Given the description of an element on the screen output the (x, y) to click on. 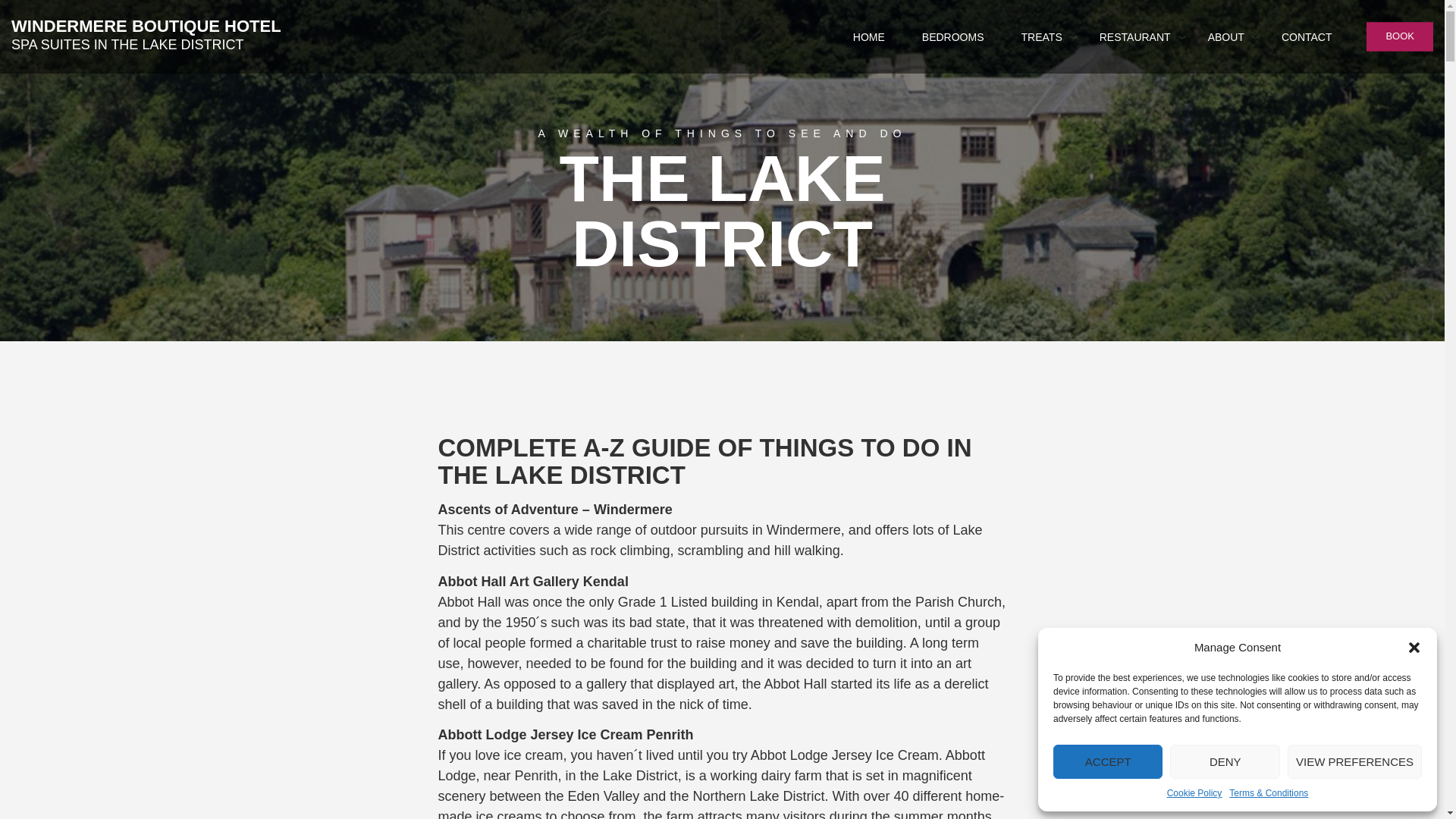
Home (869, 36)
ABOUT (1226, 36)
About (1226, 36)
ACCEPT (1106, 761)
Cookie Policy (1195, 793)
BEDROOMS (952, 36)
Treats (1042, 36)
Restaurant (1134, 36)
WINDERMERE BOUTIQUE HOTEL (146, 26)
VIEW PREFERENCES (1354, 761)
